Given the description of an element on the screen output the (x, y) to click on. 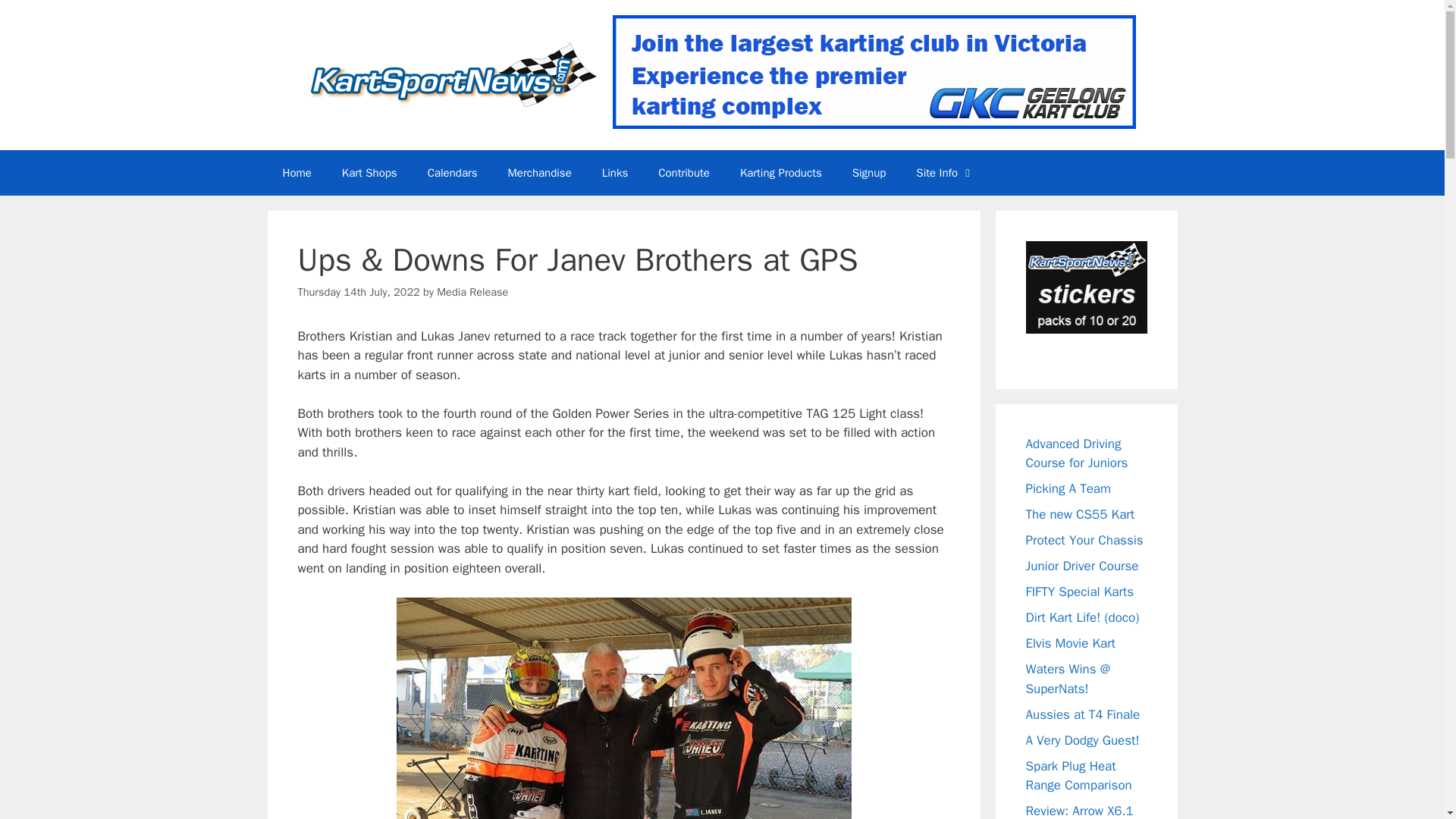
Kart Shops (369, 172)
Merchandise (539, 172)
Contribute (684, 172)
Review: Arrow X6.1 (1078, 811)
Spark Plug Heat Range Comparison (1078, 775)
Junior Driver Course (1081, 565)
The new CS55 Kart (1079, 514)
Signup (869, 172)
Aussies at T4 Finale (1082, 714)
Karting Products (781, 172)
Advanced Driving Course for Juniors (1075, 453)
Site Info (945, 172)
Elvis Movie Kart (1070, 643)
View all posts by Media Release (472, 291)
Media Release (472, 291)
